Given the description of an element on the screen output the (x, y) to click on. 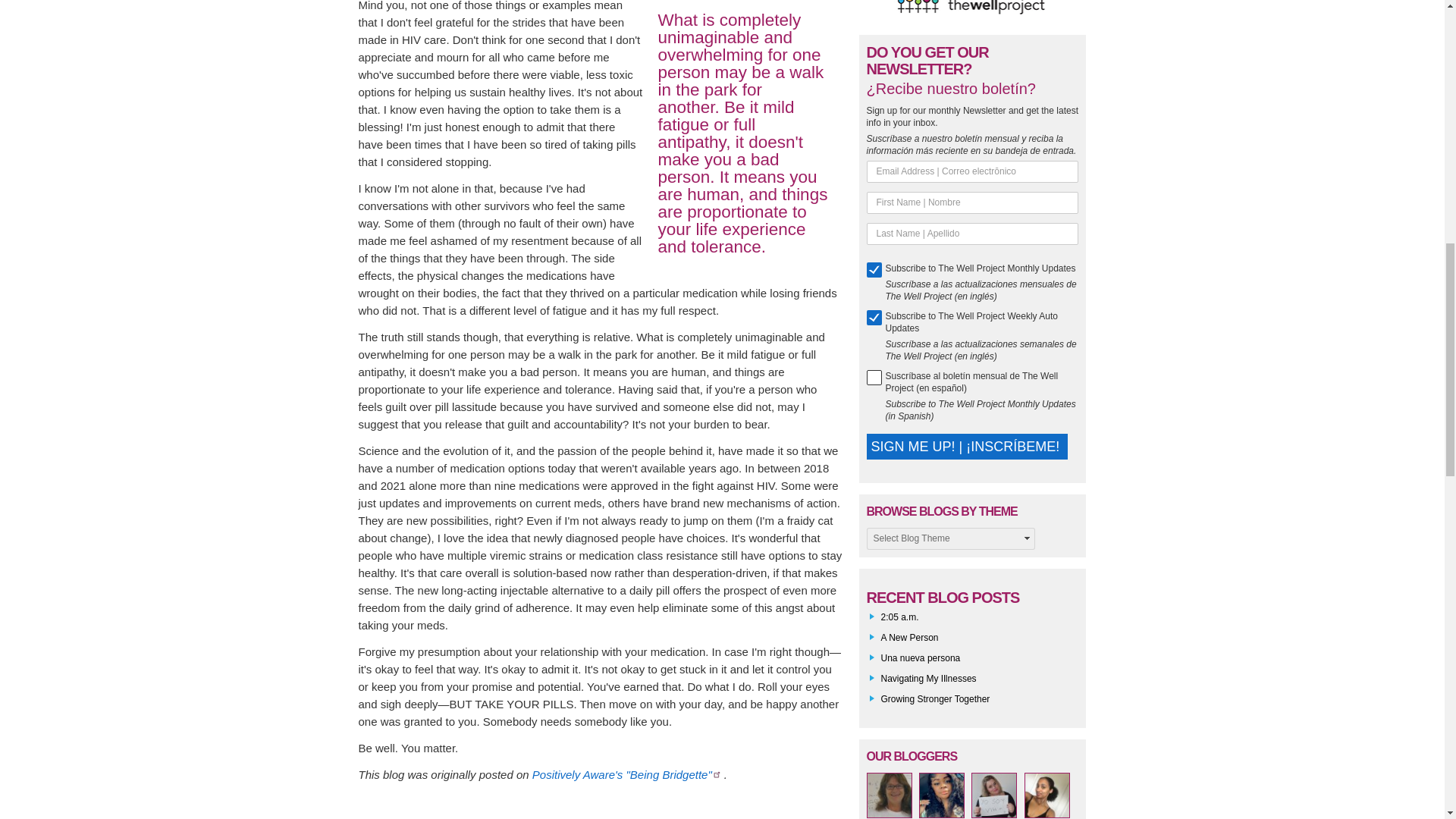
Select Blog Theme (949, 538)
